Given the description of an element on the screen output the (x, y) to click on. 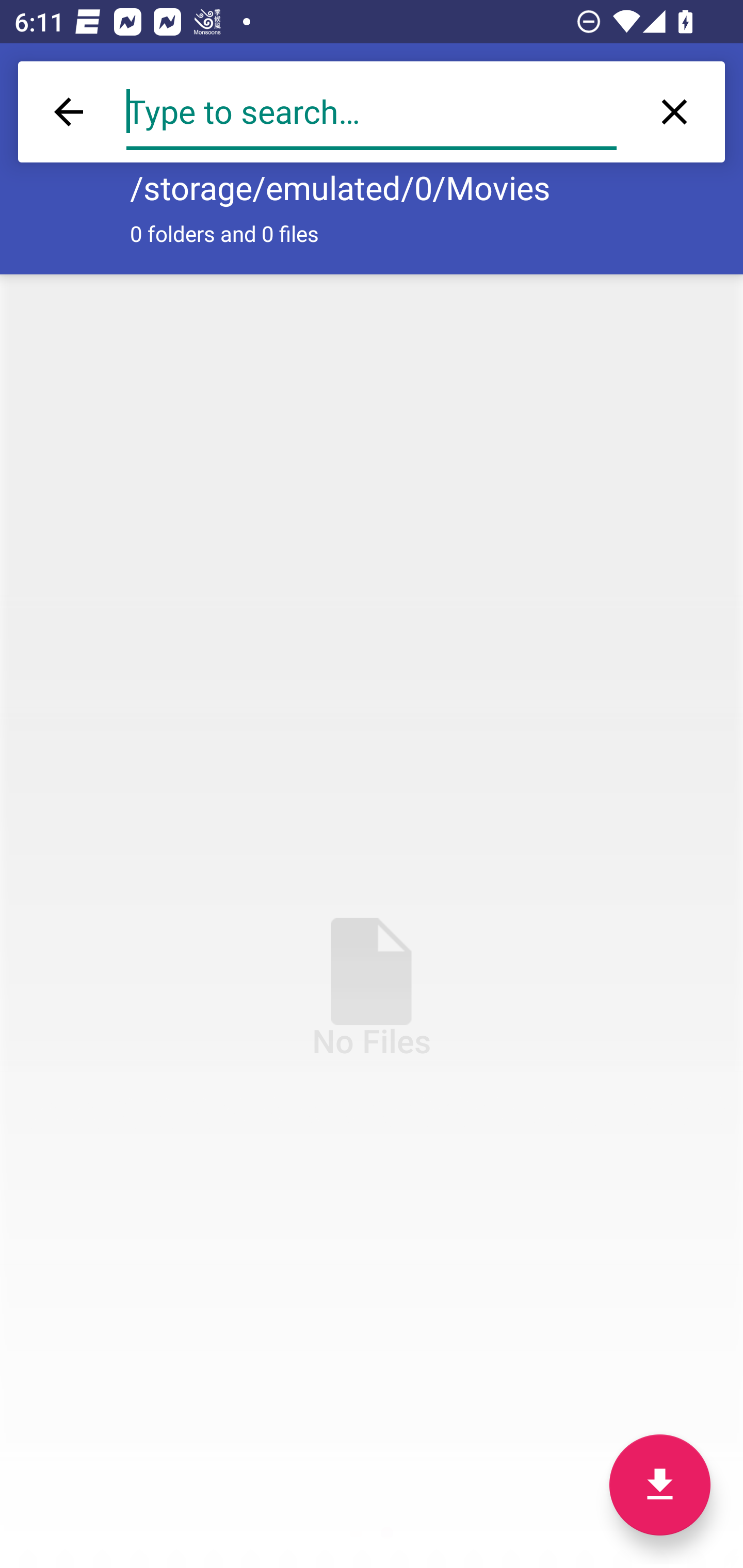
Type to search… (371, 112)
